Given the description of an element on the screen output the (x, y) to click on. 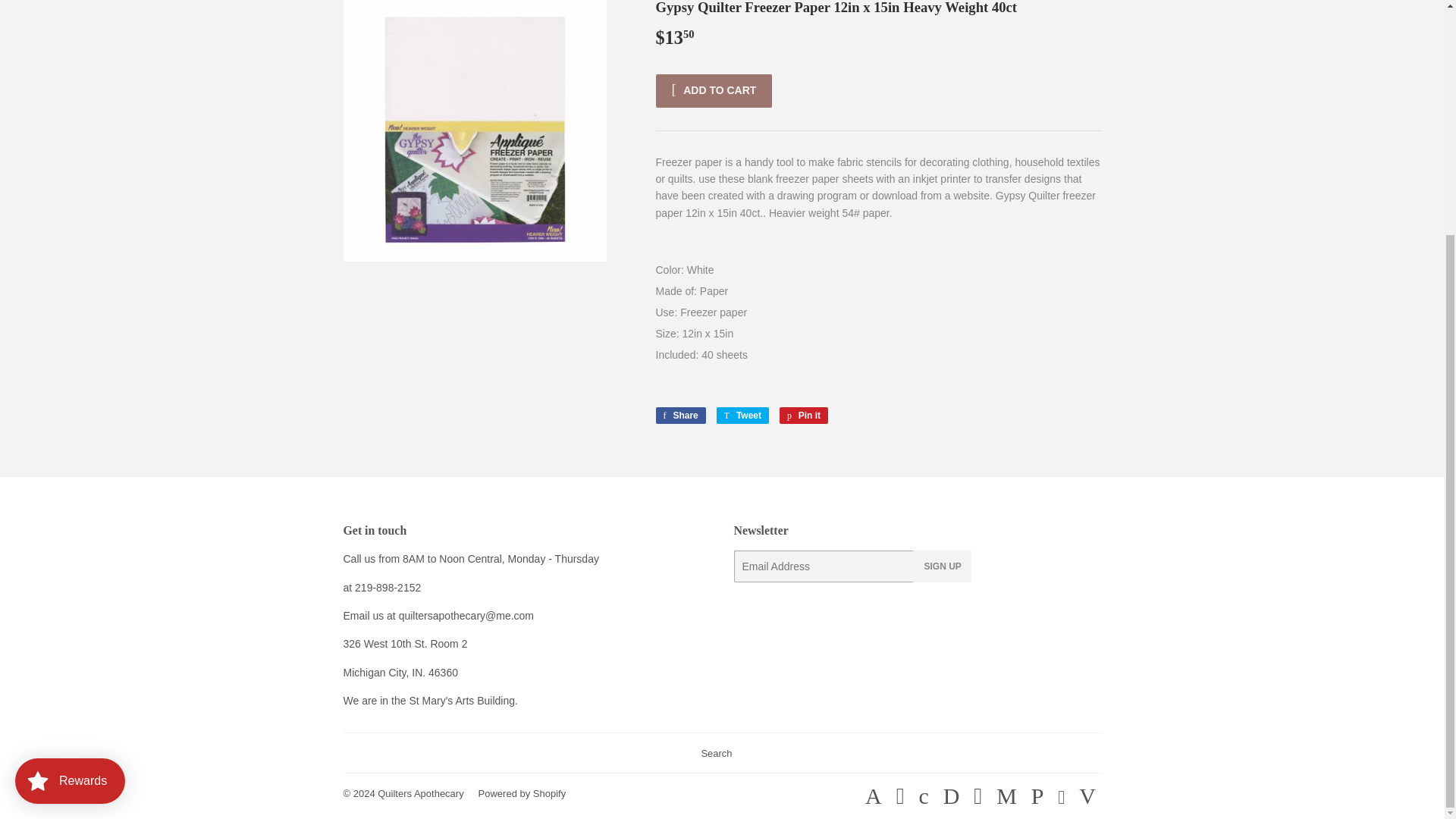
ADD TO CART (713, 90)
Quilters Apothecary (679, 415)
Pin on Pinterest (420, 793)
Search (803, 415)
Share on Facebook (716, 752)
Tweet on Twitter (679, 415)
Powered by Shopify (742, 415)
SIGN UP (803, 415)
